Given the description of an element on the screen output the (x, y) to click on. 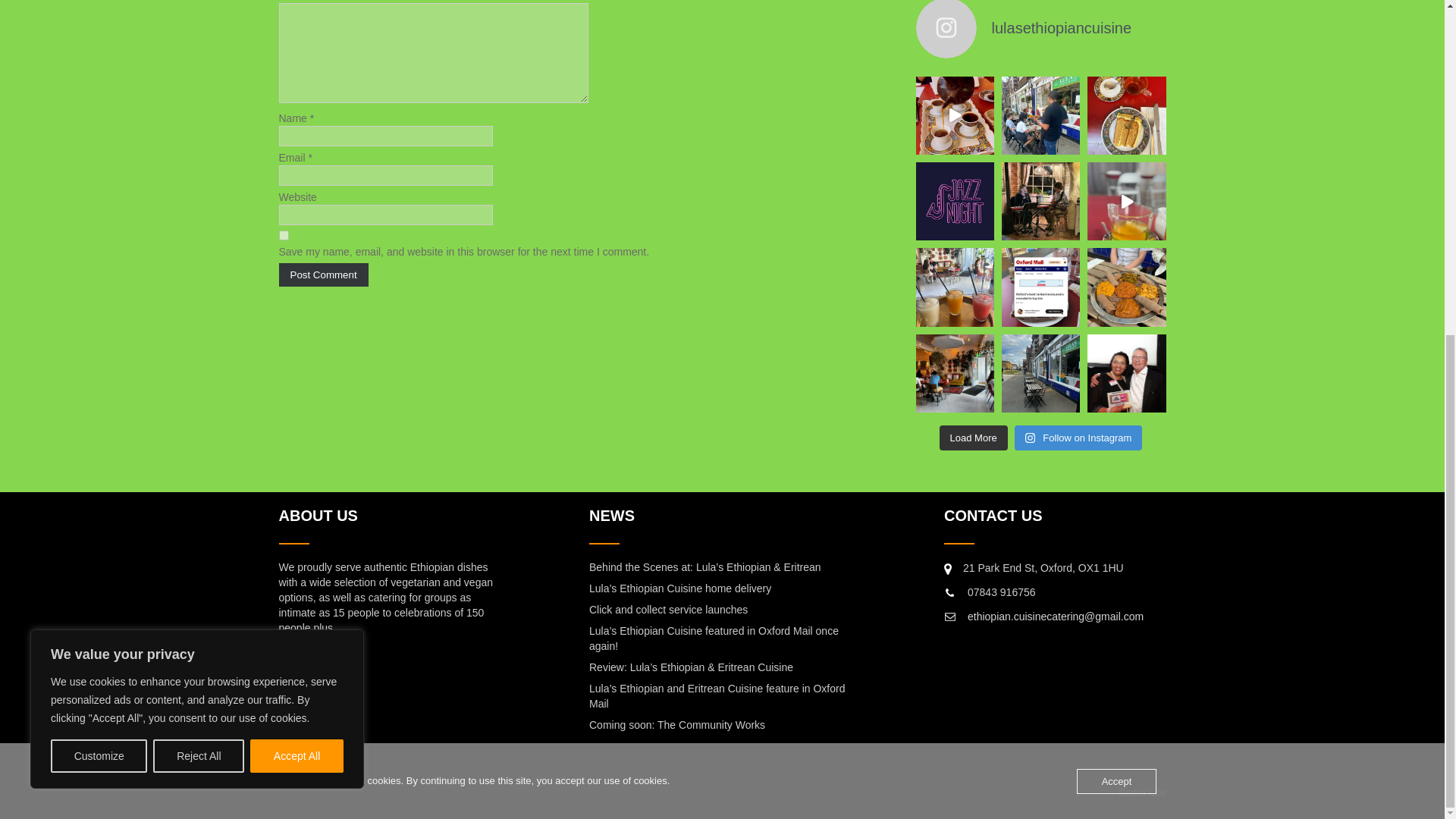
Customize (98, 193)
lulasethiopiancuisine (1040, 29)
yes (283, 234)
Post Comment (323, 274)
Reject All (198, 193)
Post Comment (323, 274)
Accept All (296, 193)
